Given the description of an element on the screen output the (x, y) to click on. 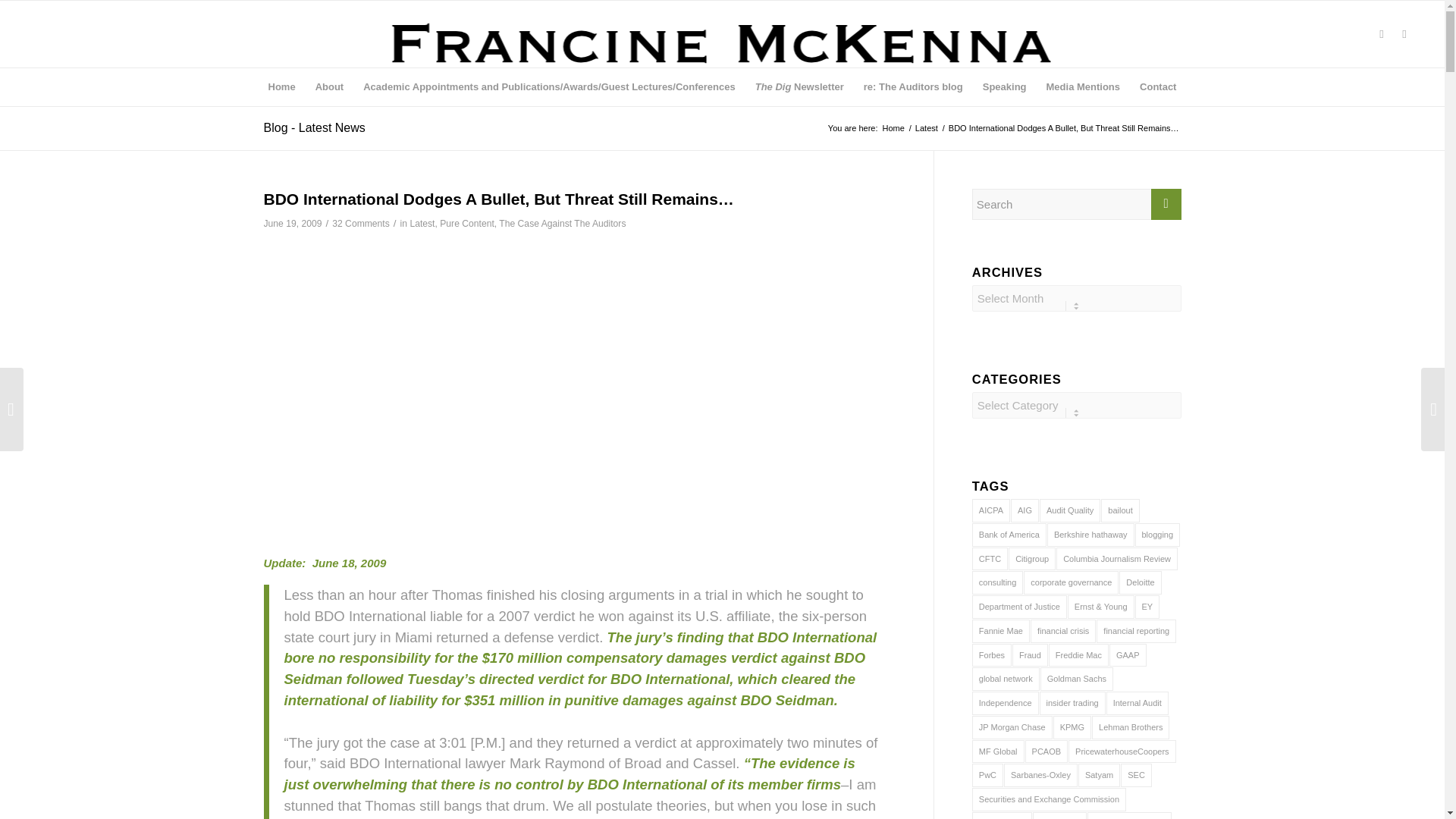
The Case Against The Auditors (562, 223)
Latest (926, 128)
Home (893, 128)
Twitter (1381, 33)
Media Mentions (1083, 86)
Home (282, 86)
Contact (1157, 86)
Francine McKenna (893, 128)
Latest (421, 223)
Blog - Latest News (314, 127)
32 Comments (360, 223)
Permanent Link: Blog - Latest News (314, 127)
Pure Content (467, 223)
Update:  June 18, 2009 (325, 562)
Rss (1404, 33)
